Given the description of an element on the screen output the (x, y) to click on. 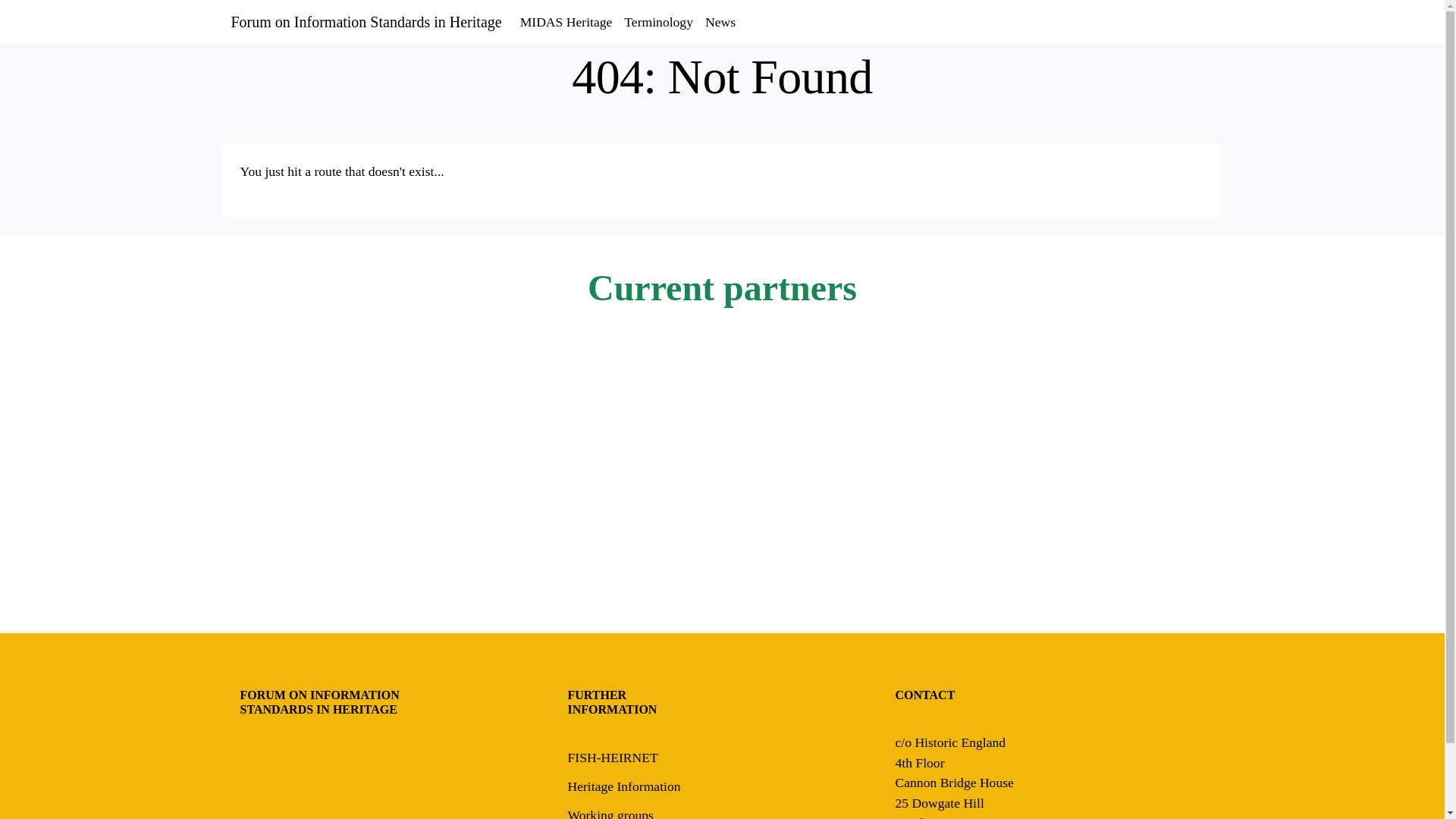
Forum on Information Standards in Heritage (365, 21)
Heritage Information (623, 785)
Working groups (609, 813)
MIDAS Heritage (565, 21)
Terminology (657, 21)
News (719, 21)
FISH-HEIRNET (612, 757)
